Given the description of an element on the screen output the (x, y) to click on. 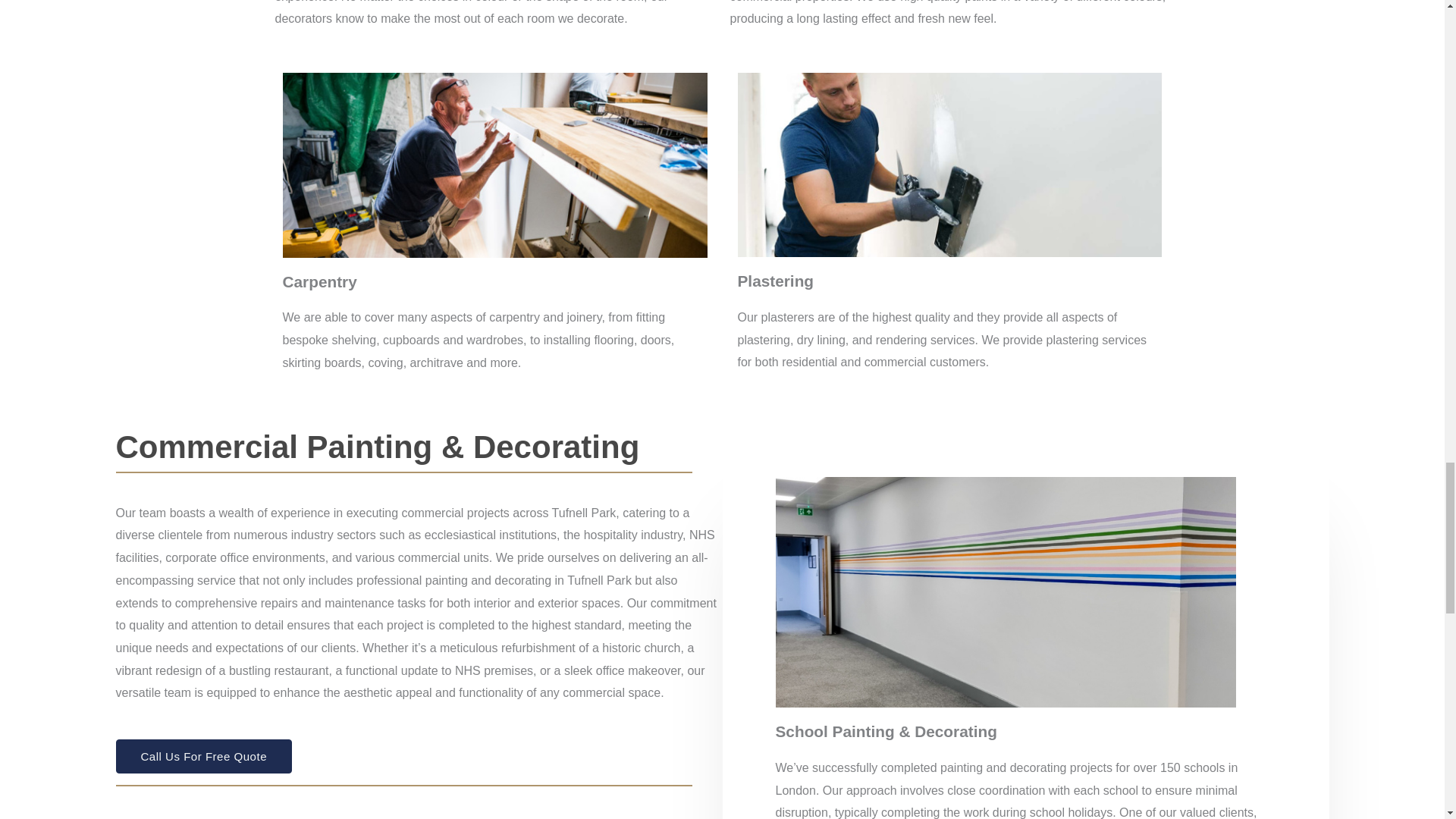
Call Us For Free Quote (203, 756)
